Given the description of an element on the screen output the (x, y) to click on. 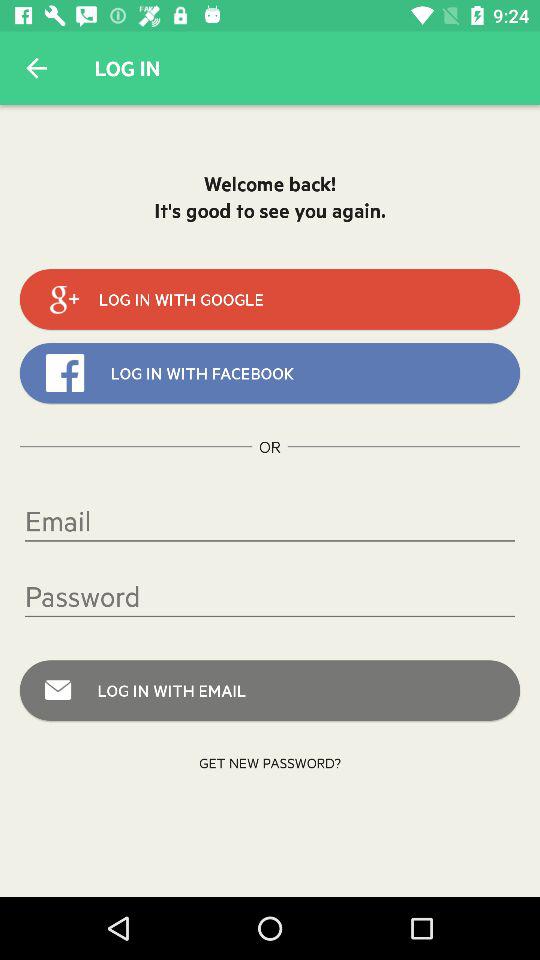
turn off icon below the log in with icon (270, 762)
